Given the description of an element on the screen output the (x, y) to click on. 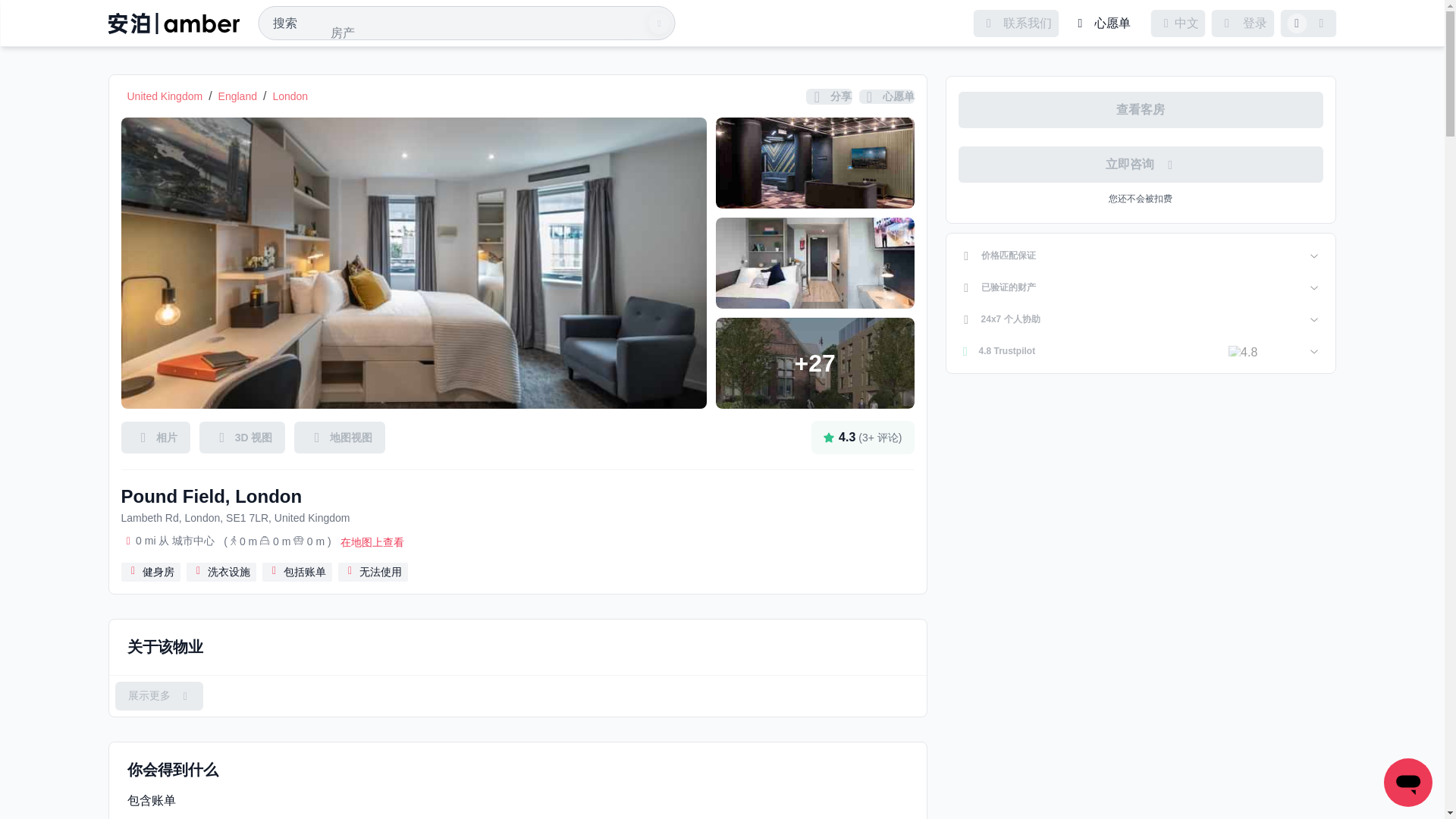
England (237, 95)
London (290, 95)
United Kingdom (164, 95)
